Given the description of an element on the screen output the (x, y) to click on. 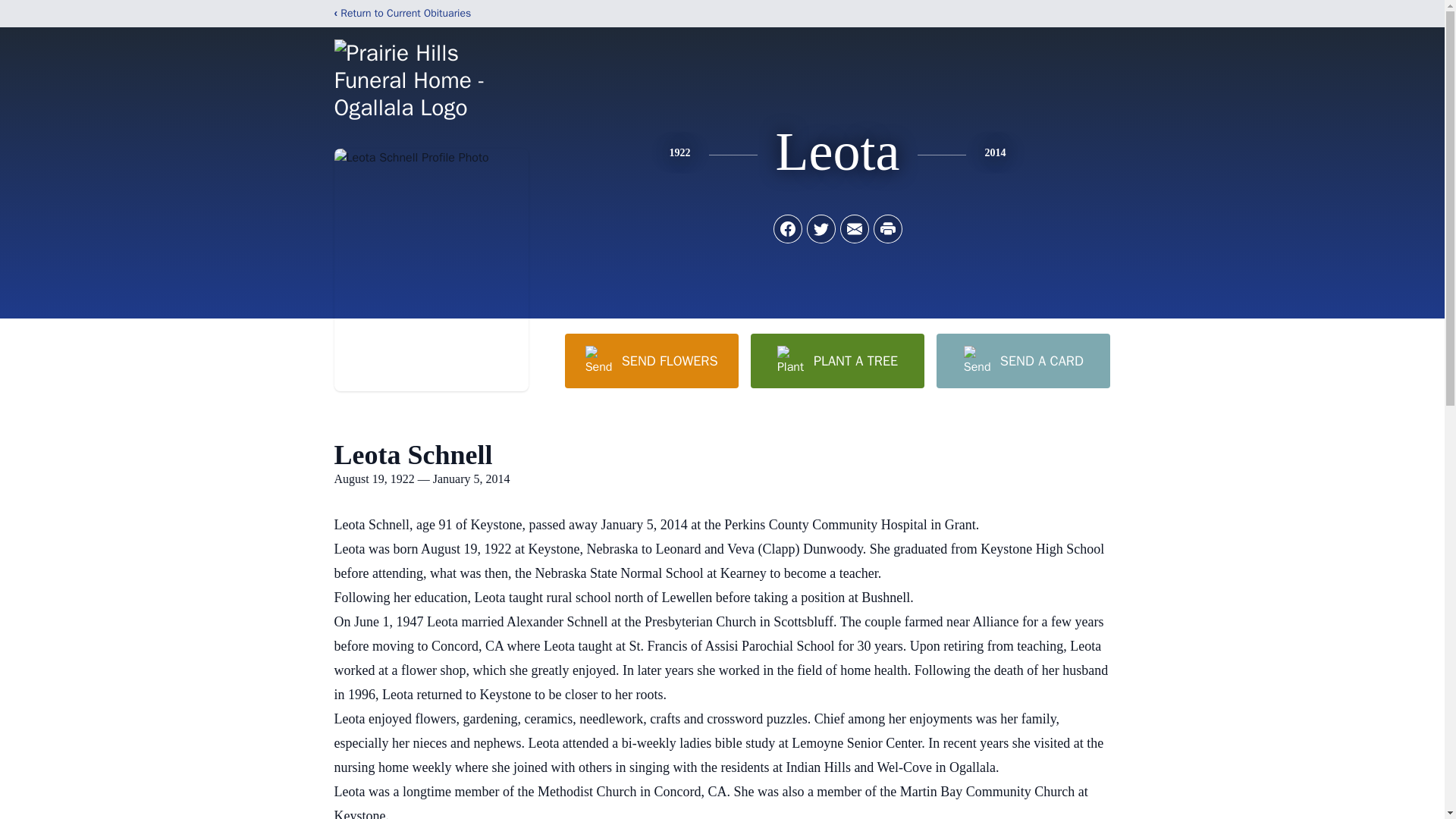
SEND A CARD (1022, 360)
SEND FLOWERS (651, 360)
PLANT A TREE (837, 360)
